Given the description of an element on the screen output the (x, y) to click on. 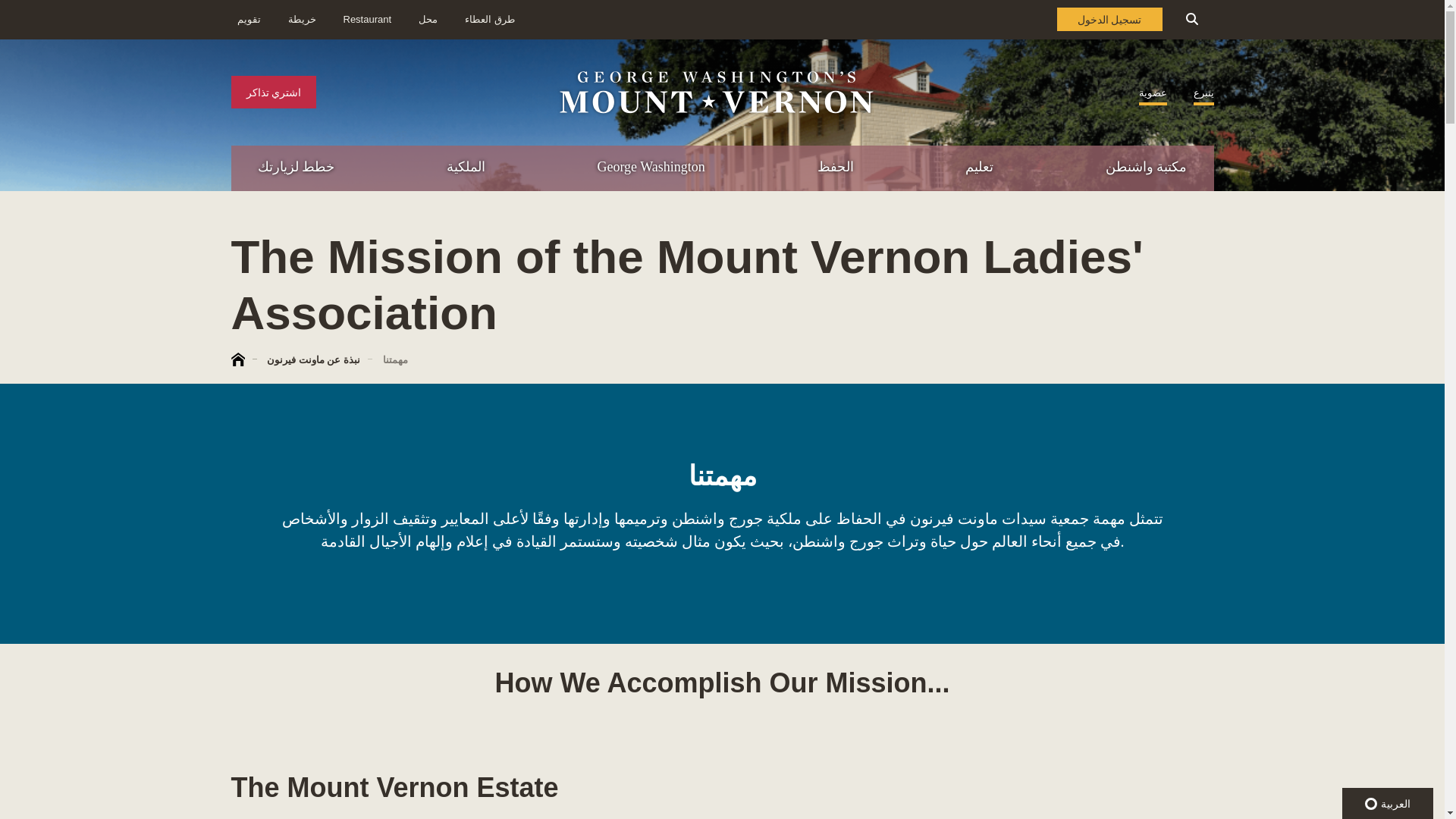
Restaurant (366, 19)
Restaurant (428, 19)
RESTAURANT (1377, 232)
SUPPORT (1283, 263)
